Given the description of an element on the screen output the (x, y) to click on. 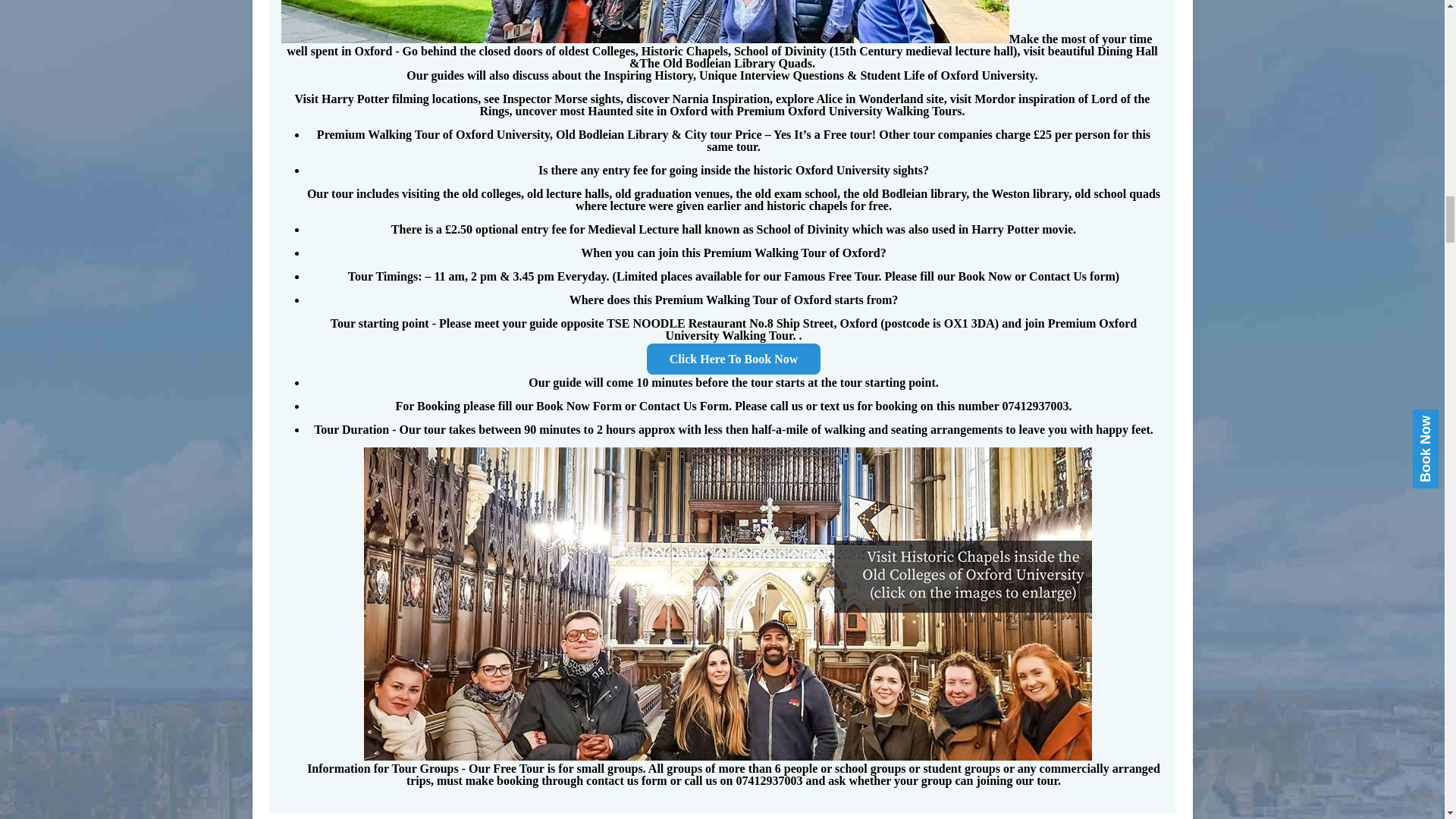
Click Here To Book Now (733, 358)
